Given the description of an element on the screen output the (x, y) to click on. 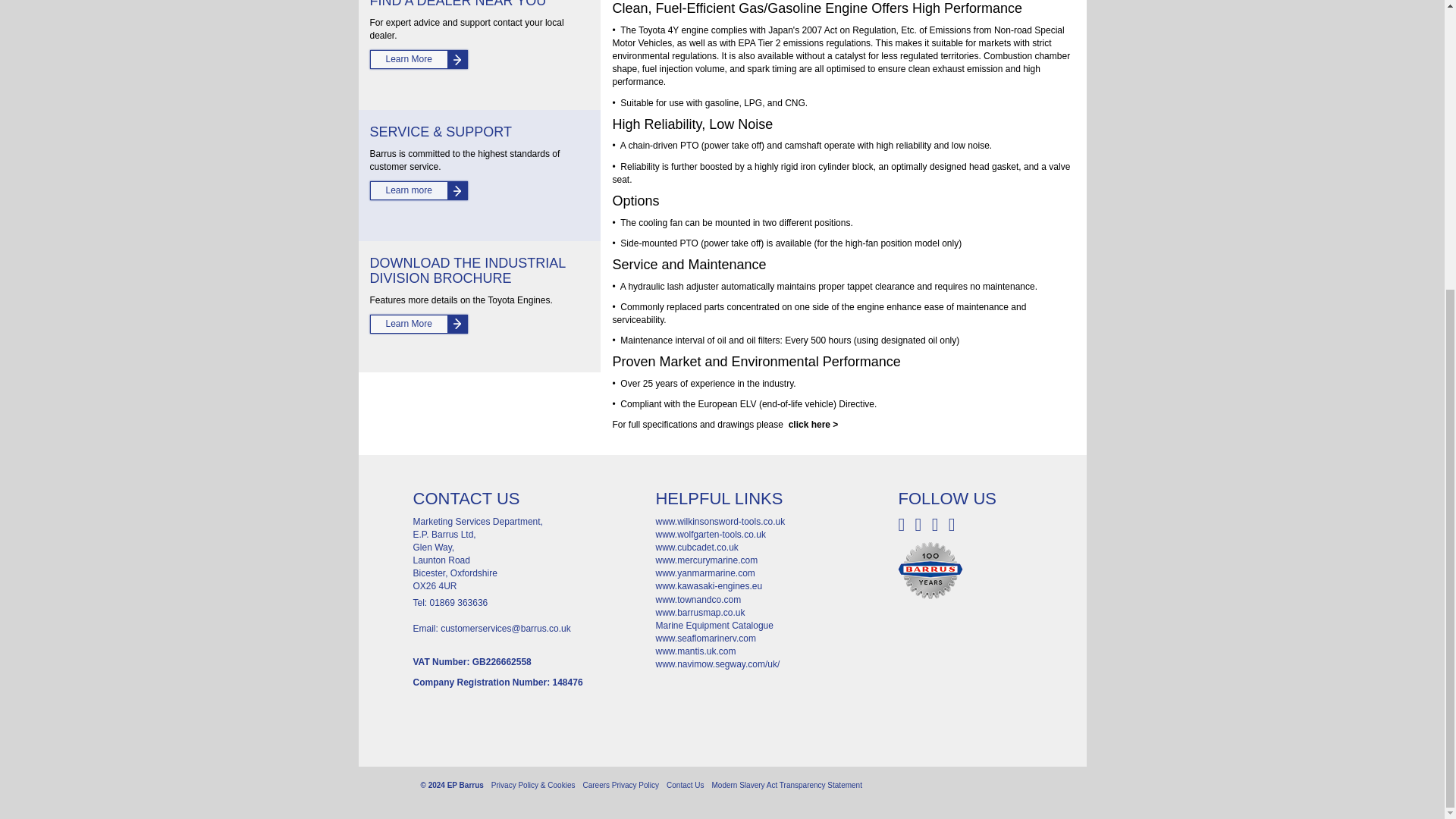
Toyota Engines (807, 424)
Dealer Locator (418, 58)
Industrial Division Brochure (418, 323)
